Given the description of an element on the screen output the (x, y) to click on. 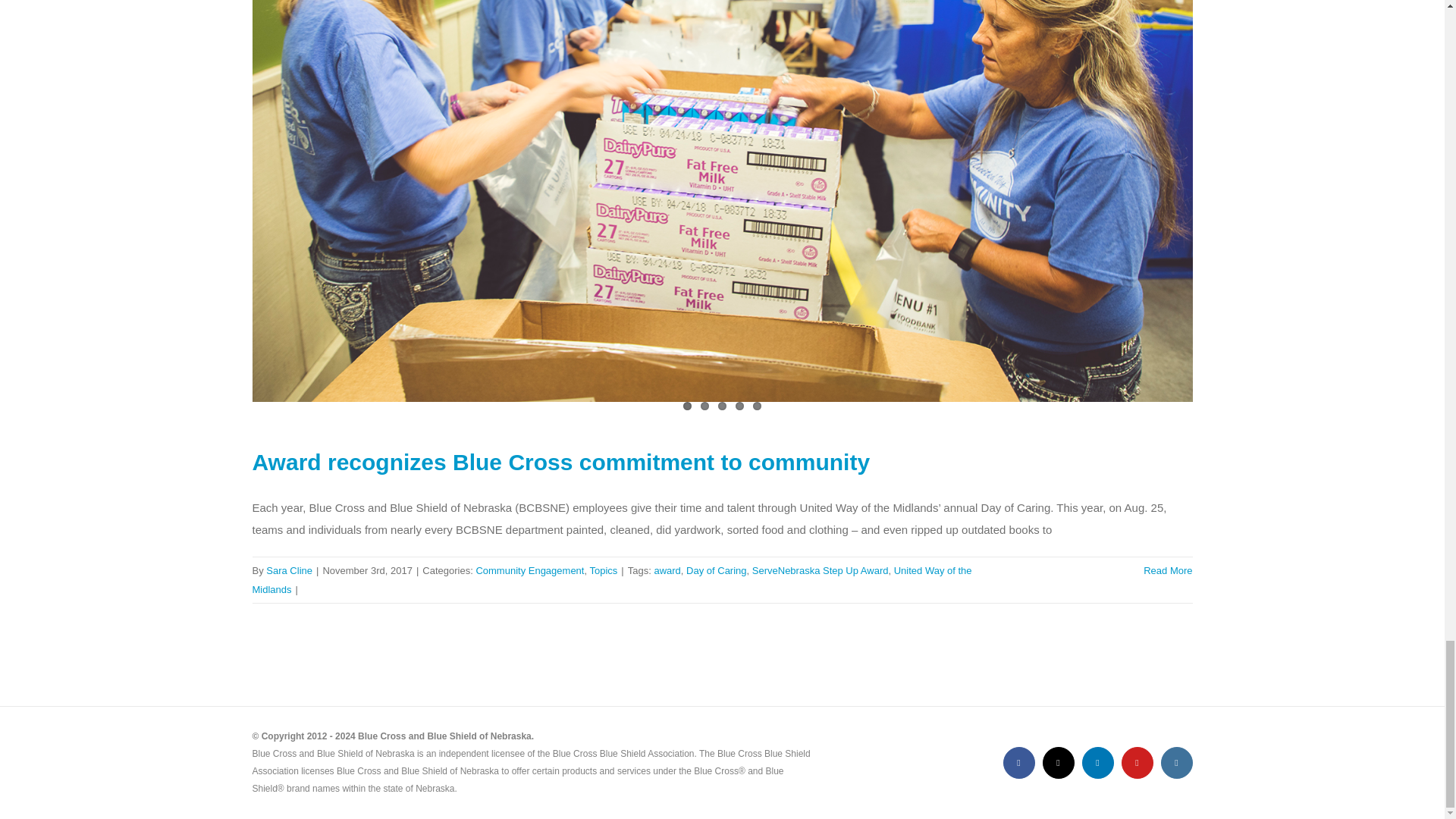
Posts by Sara Cline (289, 569)
